Given the description of an element on the screen output the (x, y) to click on. 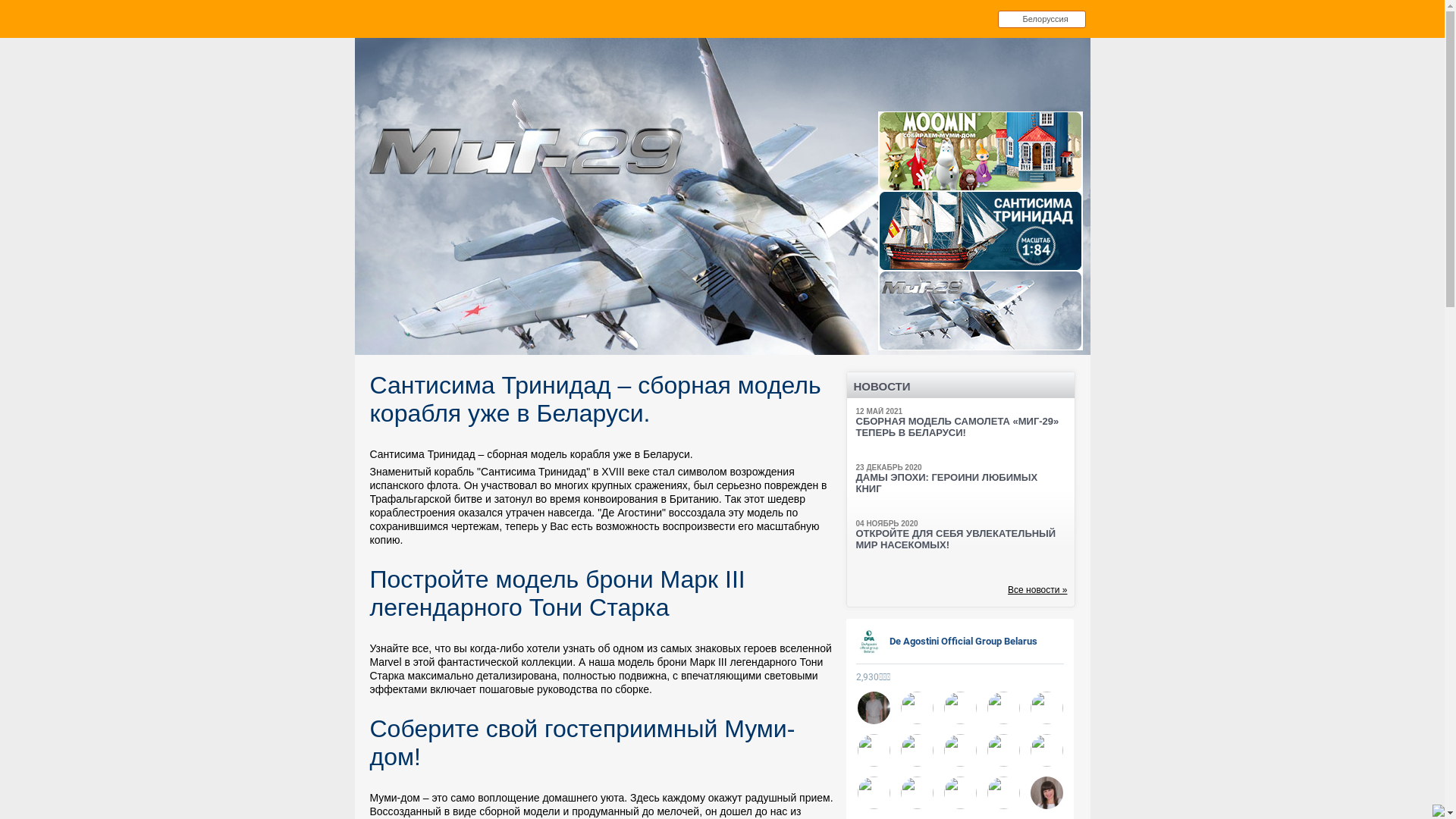
DeAgostini Element type: hover (454, 77)
Scroll down Element type: text (980, 358)
Scroll top Element type: text (980, 102)
